Given the description of an element on the screen output the (x, y) to click on. 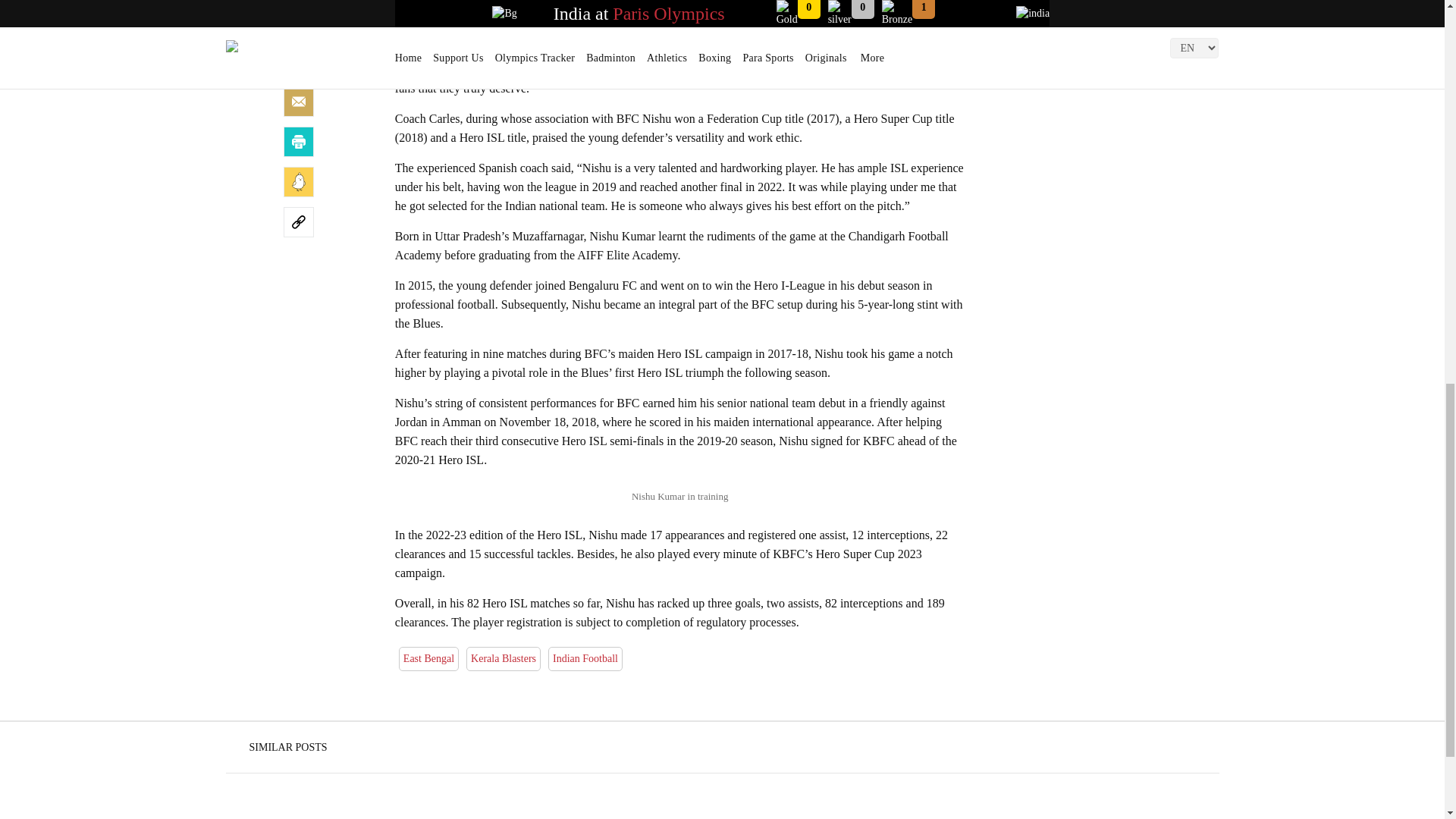
LinkedIn (298, 60)
Share by Email (298, 101)
